Given the description of an element on the screen output the (x, y) to click on. 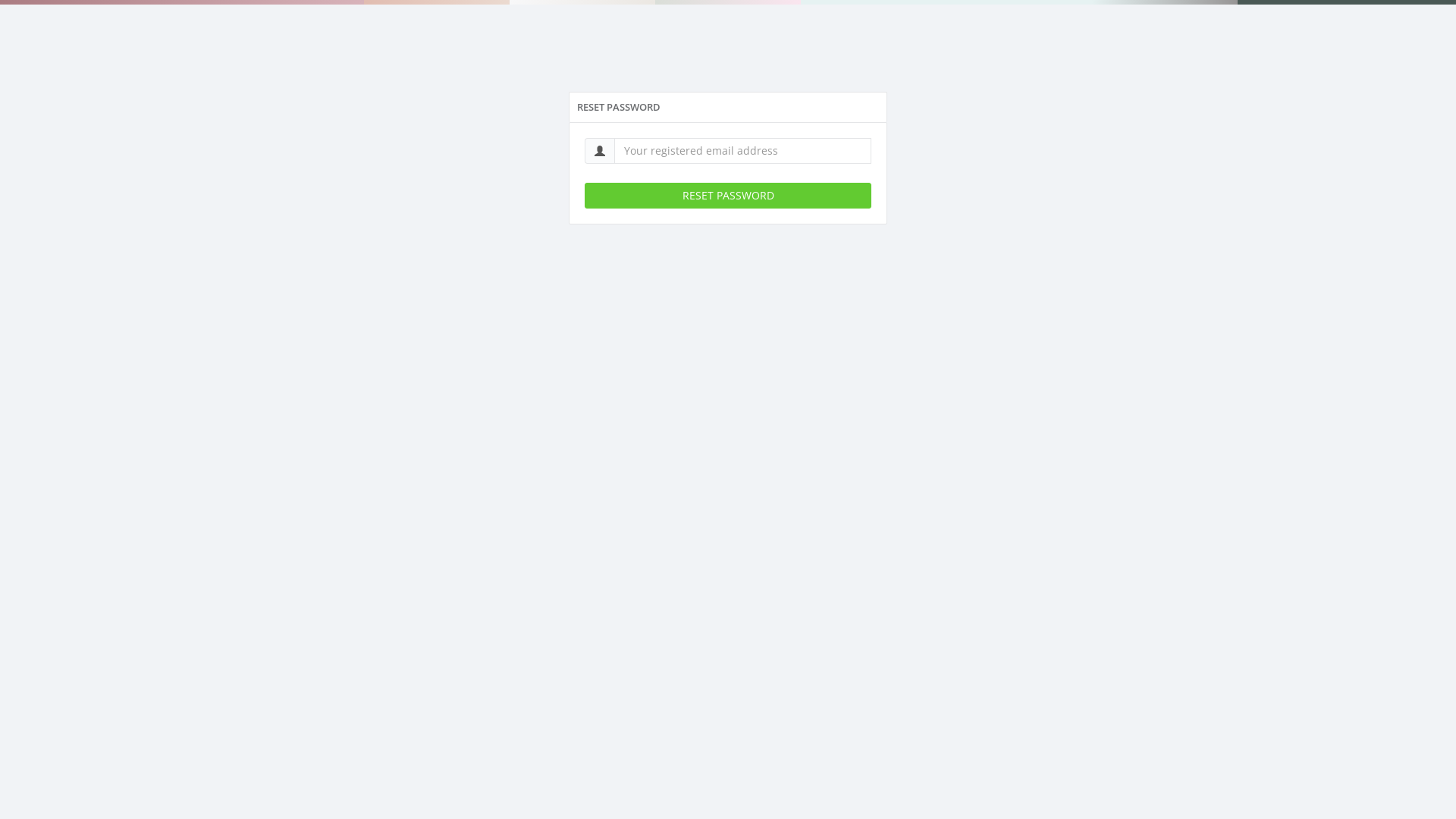
RESET PASSWORD Element type: text (727, 195)
